Given the description of an element on the screen output the (x, y) to click on. 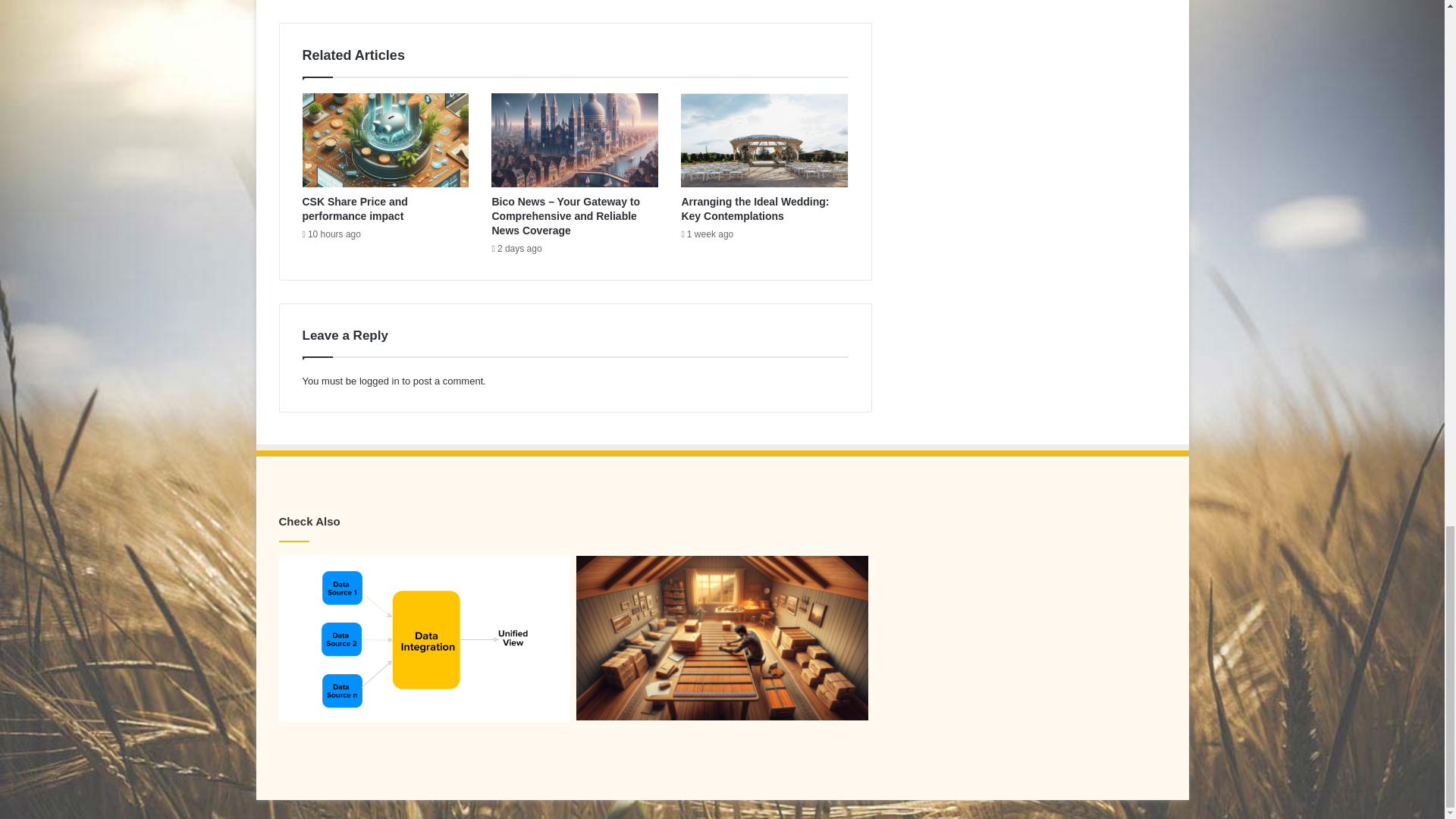
CSK Share Price and performance impact  (354, 208)
Arranging the Ideal Wedding: Key Contemplations (754, 208)
